Given the description of an element on the screen output the (x, y) to click on. 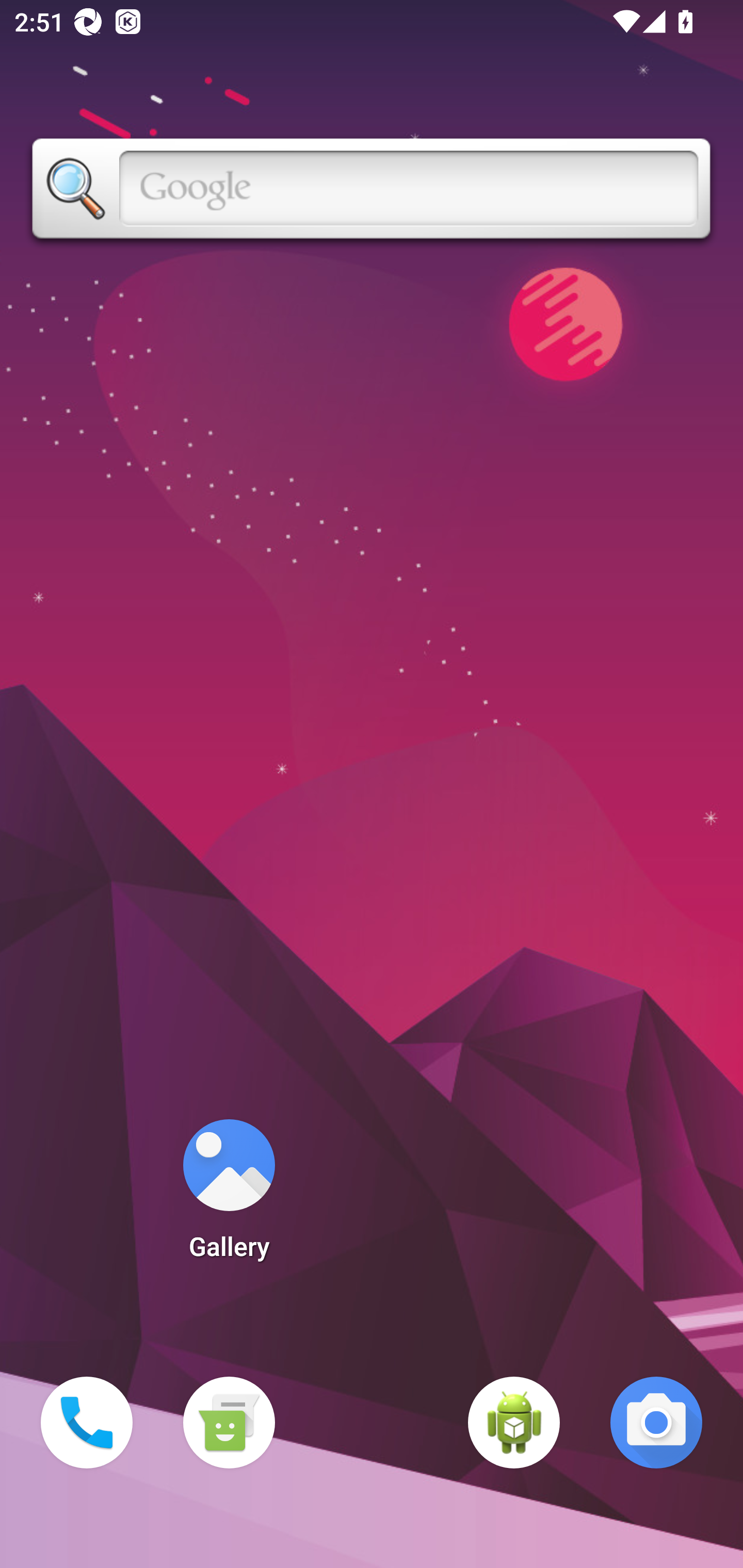
Gallery (228, 1195)
Phone (86, 1422)
Messaging (228, 1422)
WebView Browser Tester (513, 1422)
Camera (656, 1422)
